Given the description of an element on the screen output the (x, y) to click on. 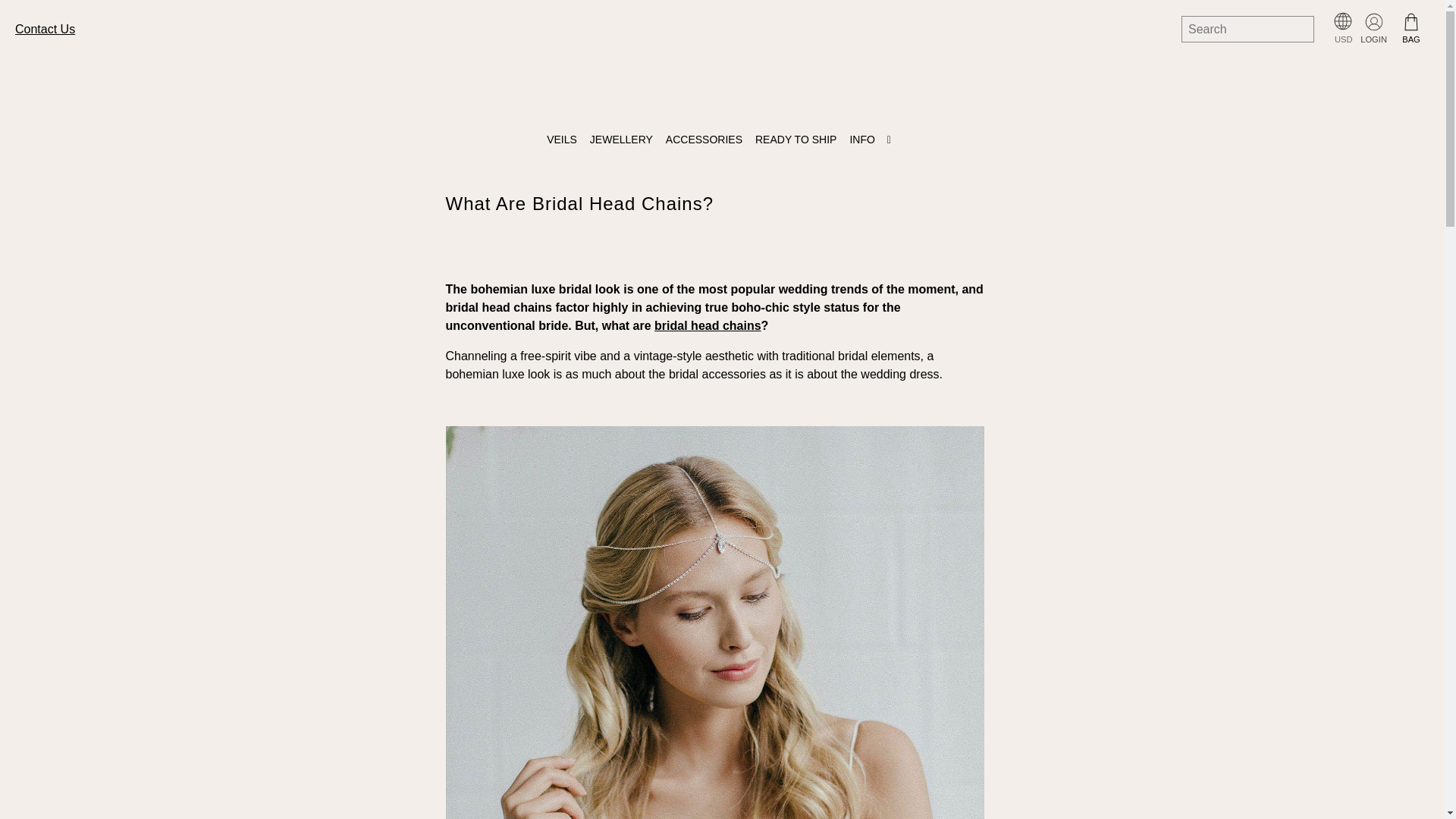
INFO (873, 139)
JEWELLERY (624, 139)
Contact Us (44, 29)
ACCESSORIES (706, 139)
READY TO SHIP (798, 139)
VEILS (564, 139)
